Given the description of an element on the screen output the (x, y) to click on. 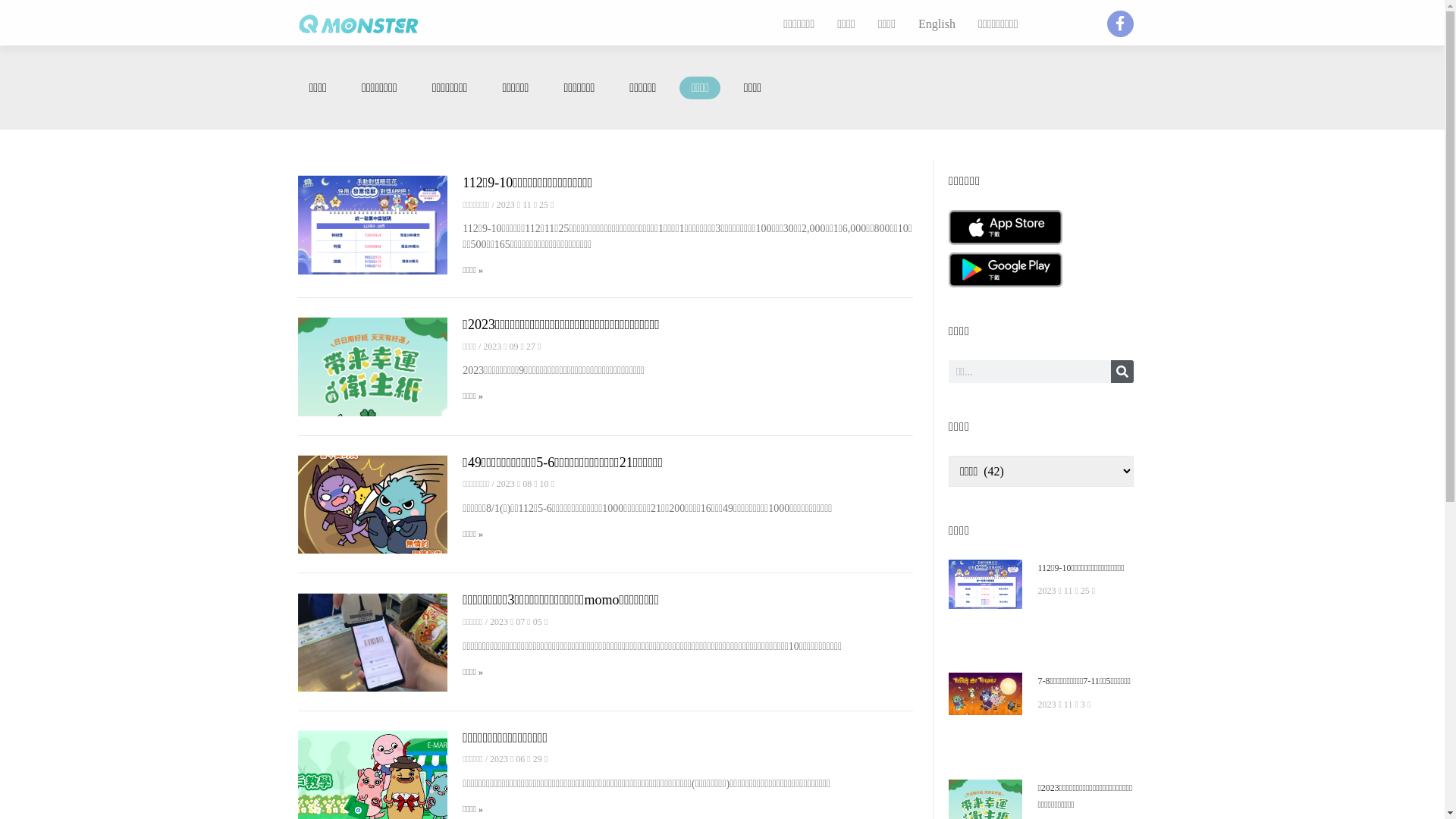
English Element type: text (936, 23)
